Given the description of an element on the screen output the (x, y) to click on. 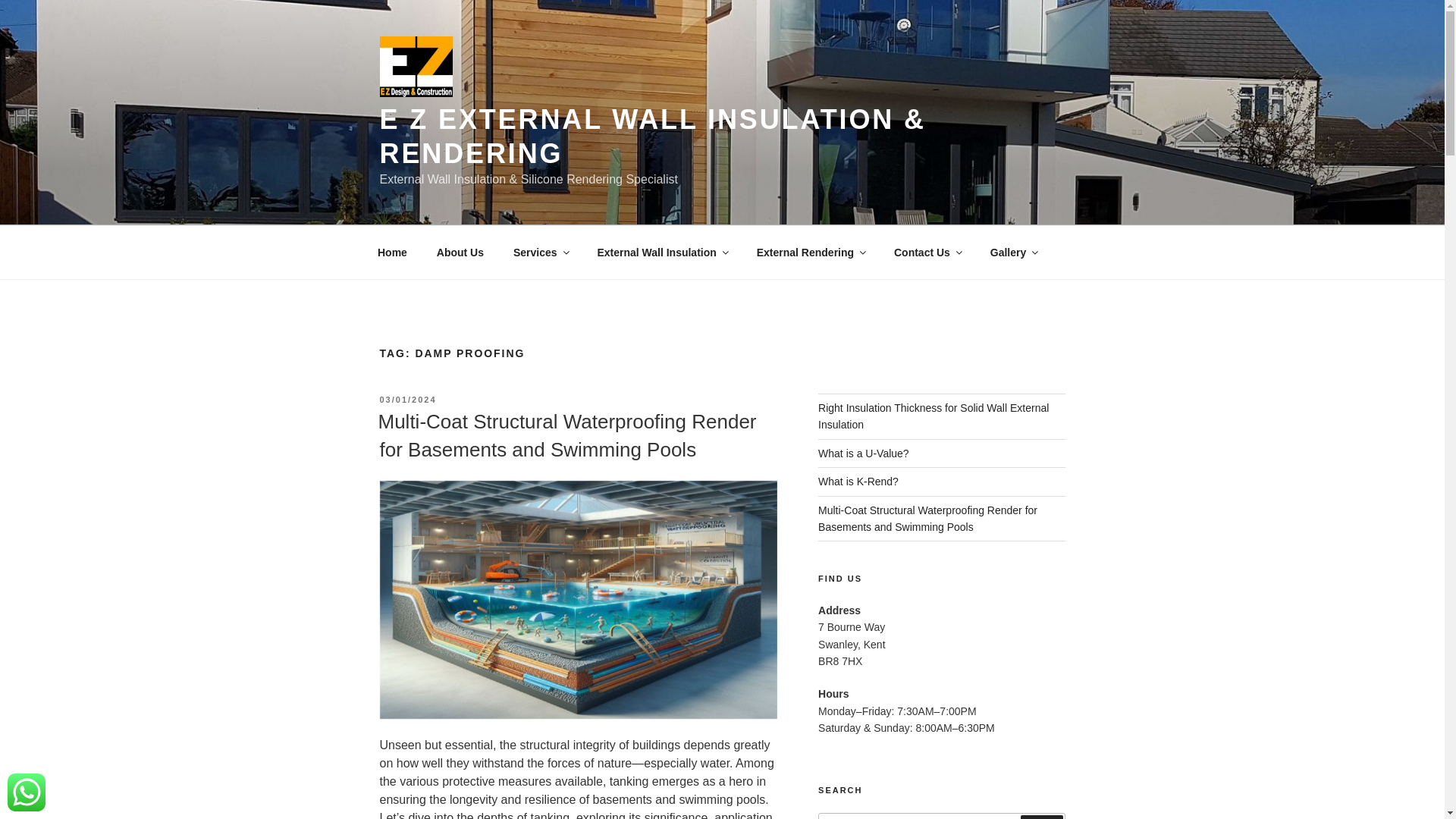
Home (392, 252)
Contact Us (927, 252)
Services (539, 252)
About Us (459, 252)
What is a U-Value? (863, 453)
External Wall Insulation (661, 252)
External Rendering (809, 252)
What is K-Rend? (858, 481)
Gallery (1012, 252)
